Given the description of an element on the screen output the (x, y) to click on. 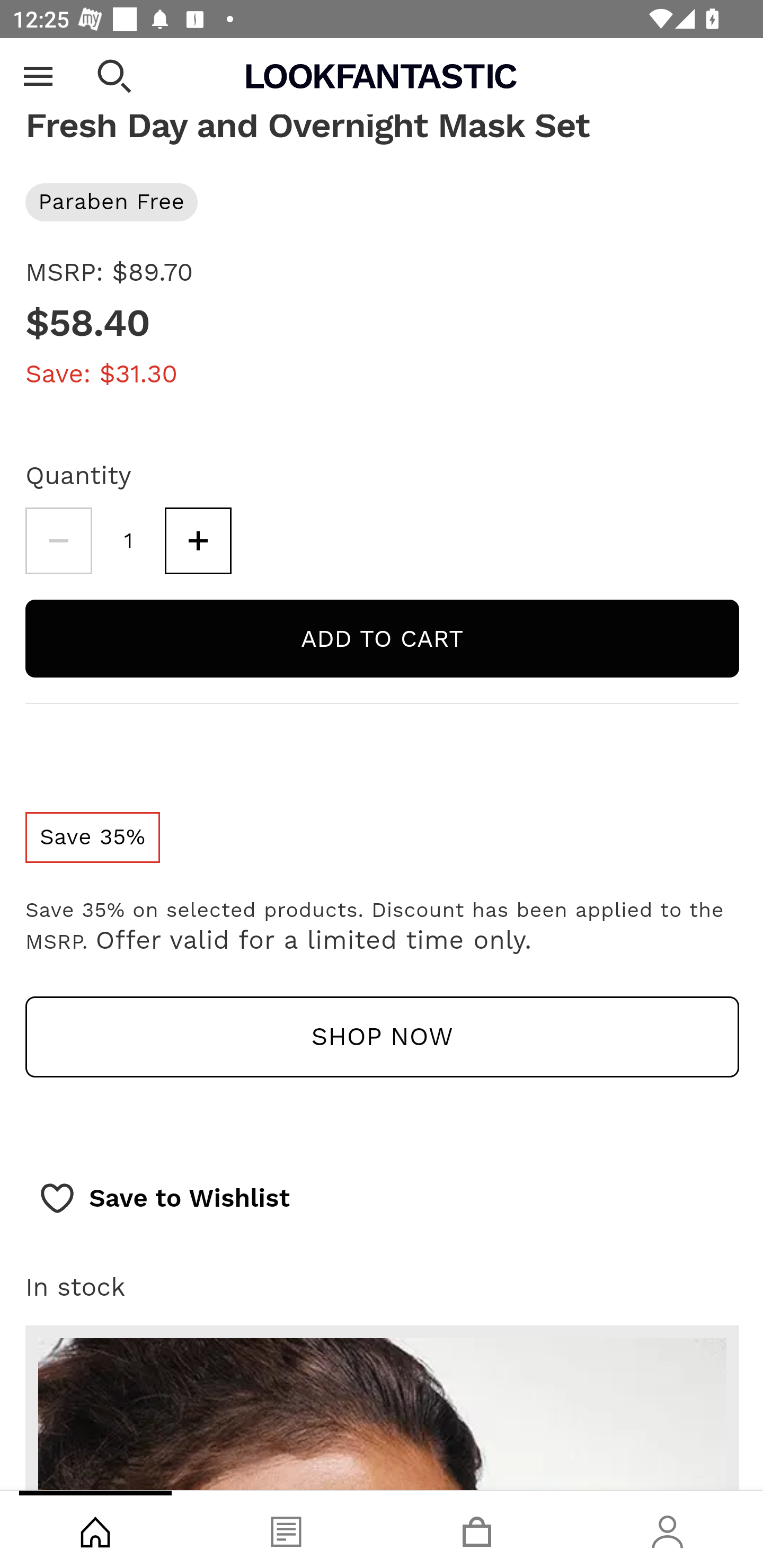
Fresh (381, 63)
Paraben Free (381, 201)
Decrease quantity (58, 540)
1, Quantity (128, 540)
Increase quantity (197, 540)
Add to cart (382, 638)
Save 35%, read more (92, 837)
SHOP NOW (382, 1036)
Save to Wishlist (164, 1198)
Shop, tab, 1 of 4 (95, 1529)
Blog, tab, 2 of 4 (285, 1529)
Basket, tab, 3 of 4 (476, 1529)
Account, tab, 4 of 4 (667, 1529)
